Given the description of an element on the screen output the (x, y) to click on. 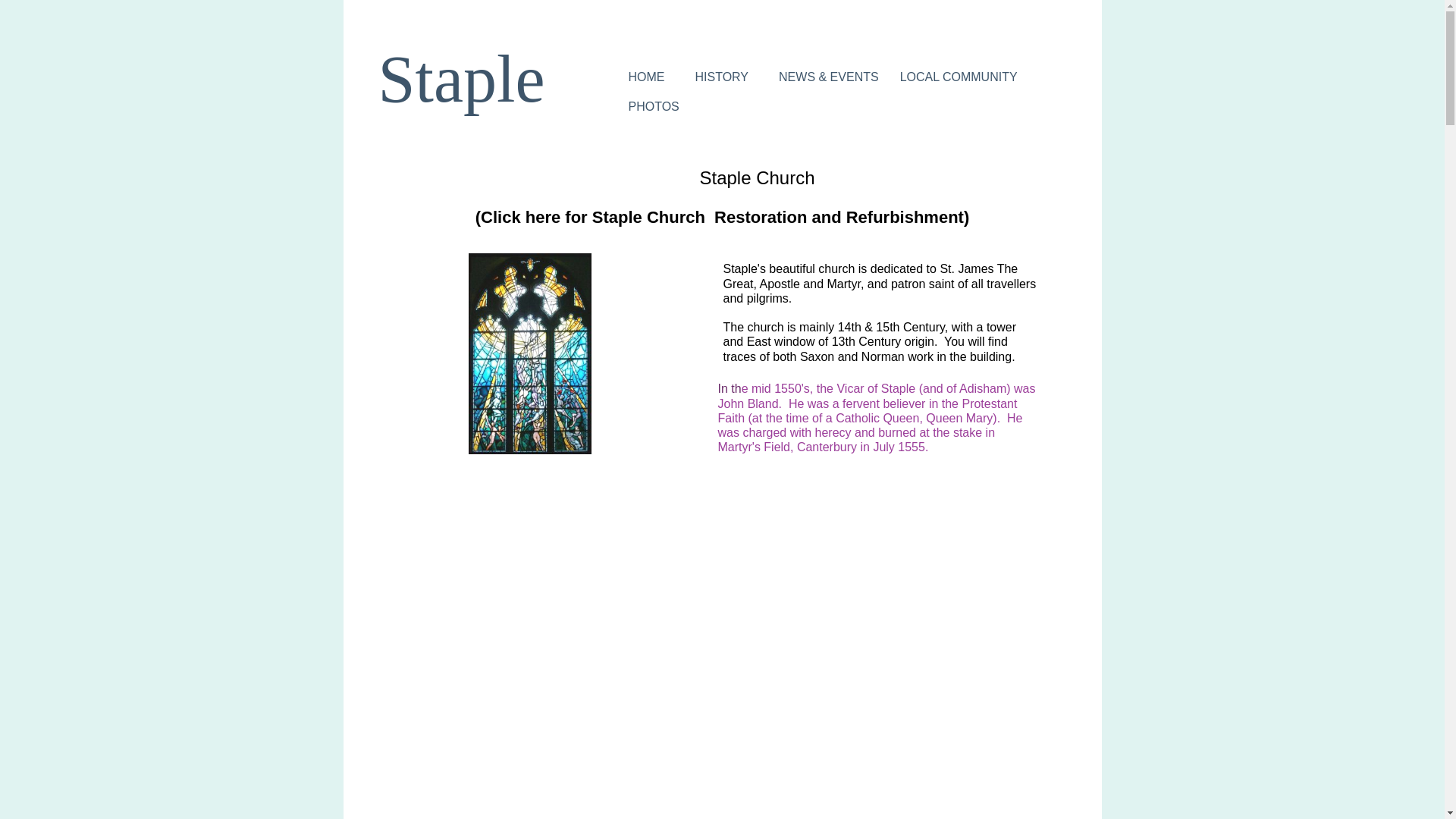
LOCAL COMMUNITY (958, 76)
HISTORY (720, 76)
HOME (645, 76)
PHOTOS (653, 106)
